Given the description of an element on the screen output the (x, y) to click on. 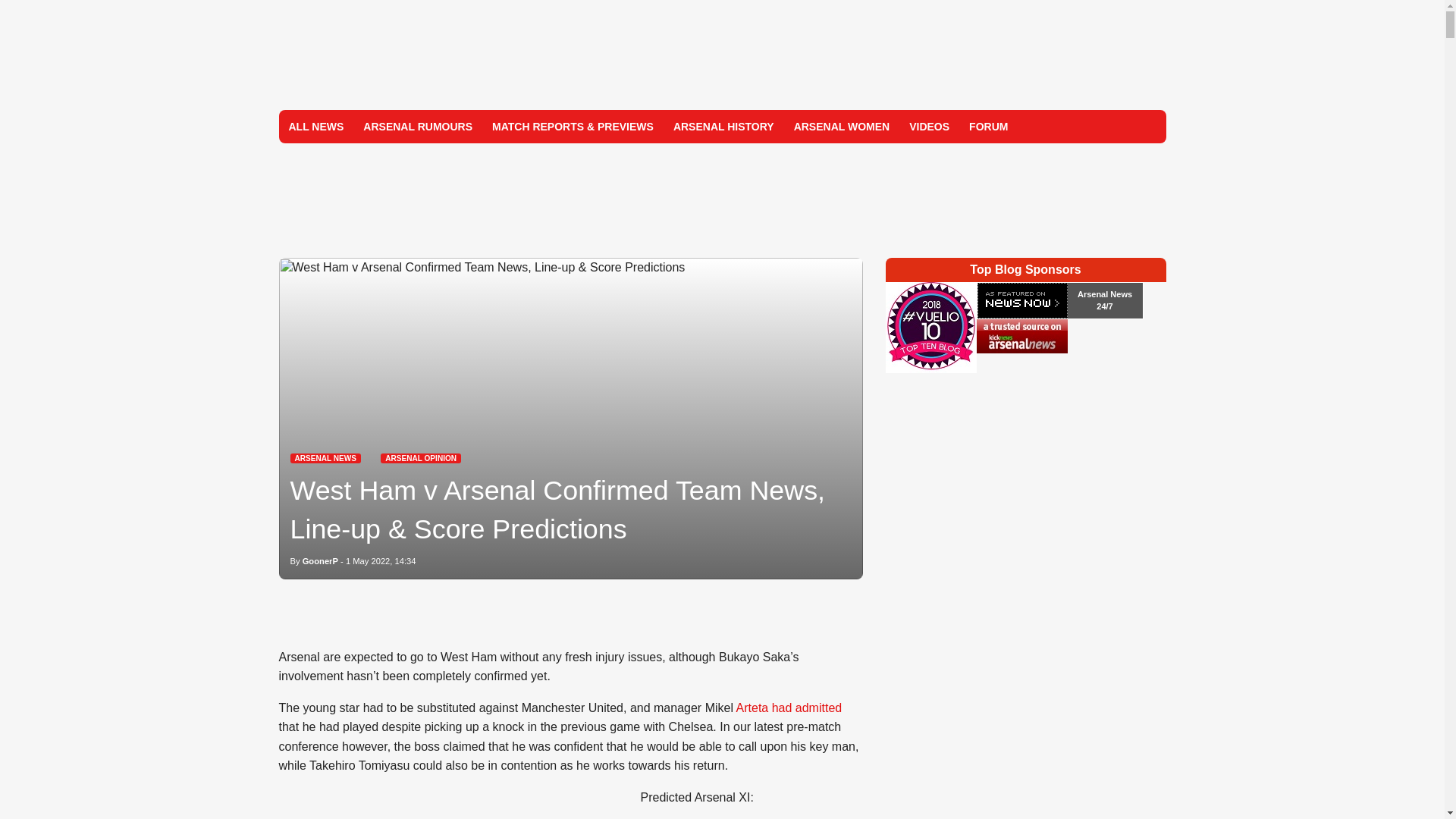
1 May 2022, 14:34 (381, 560)
Arteta had admitted (789, 707)
GoonerP (319, 560)
ALL NEWS (316, 126)
ARSENAL HISTORY (723, 126)
FORUM (988, 126)
Latest Arsenal News News (325, 458)
VIDEOS (929, 126)
Latest Arsenal opinion News (420, 458)
ARSENAL RUMOURS (417, 126)
Search (1147, 126)
ARSENAL OPINION (420, 458)
ARSENAL WOMEN (841, 126)
ARSENAL NEWS (325, 458)
